Given the description of an element on the screen output the (x, y) to click on. 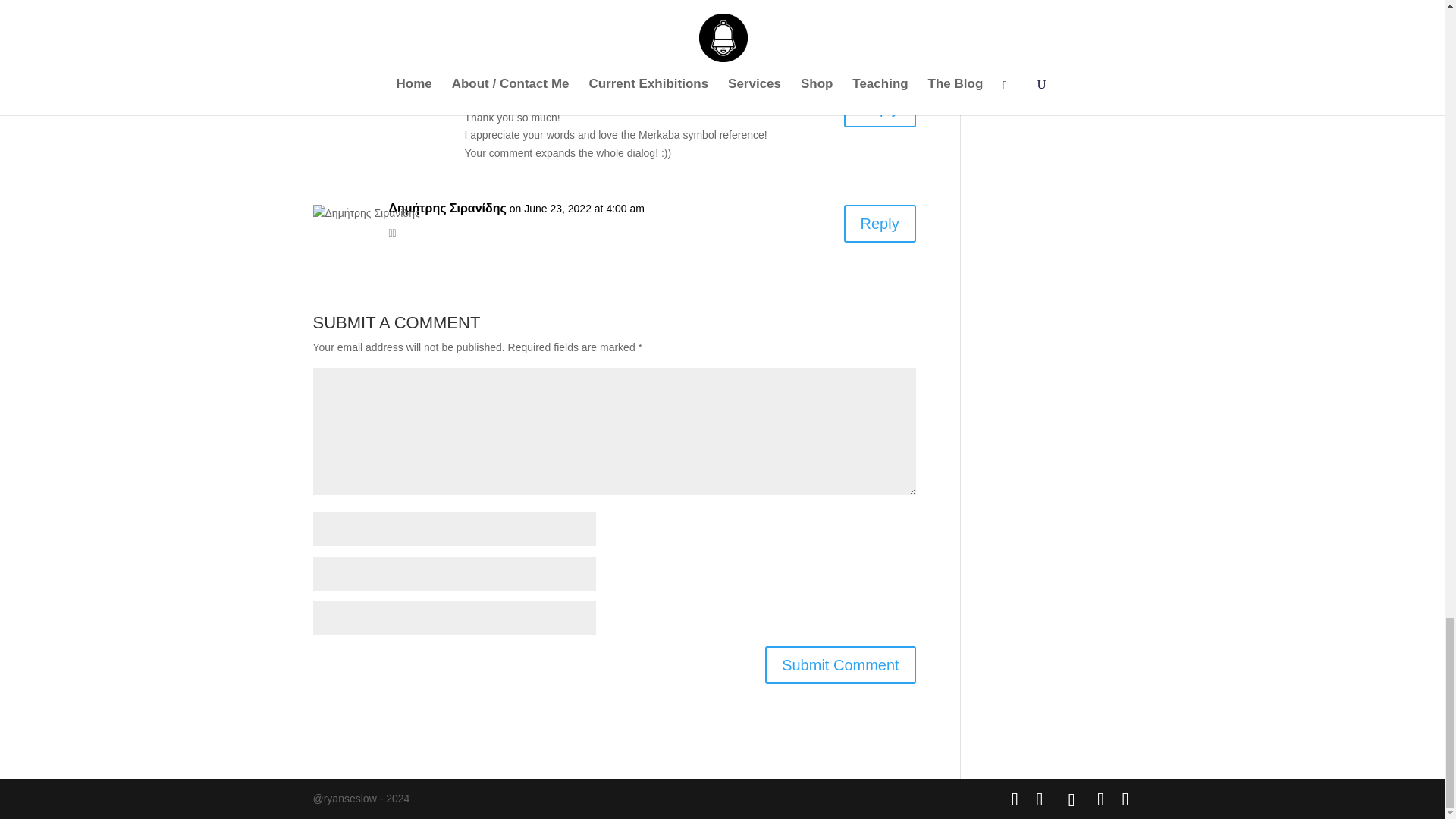
Reply (879, 223)
Reply (879, 108)
Submit Comment (840, 664)
Ryan Seslow (501, 93)
Submit Comment (840, 664)
